Given the description of an element on the screen output the (x, y) to click on. 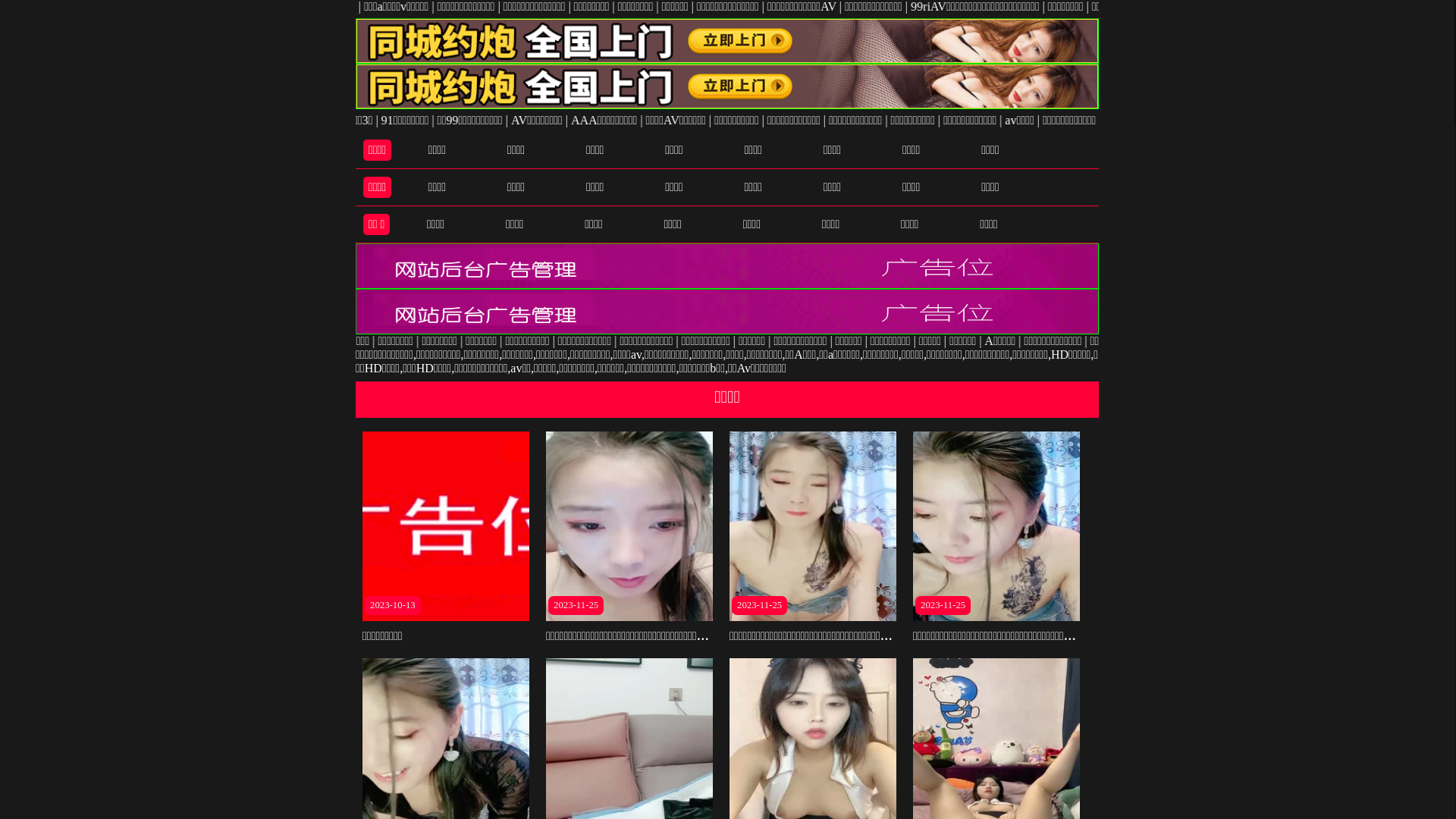
| Element type: text (590, 119)
| Element type: text (1148, 340)
| Element type: text (462, 340)
| Element type: text (1378, 119)
| Element type: text (1093, 340)
| Element type: text (1326, 6)
| Element type: text (1203, 340)
| Element type: text (1041, 6)
| Element type: text (1262, 340)
| Element type: text (1029, 119)
| Element type: text (1139, 119)
| Element type: text (961, 119)
| Element type: text (774, 340)
| Element type: text (1240, 6)
| Element type: text (1328, 119)
| Element type: text (408, 340)
| Element type: text (951, 340)
| Element type: text (1318, 340)
| Element type: text (833, 340)
| Element type: text (878, 119)
| Element type: text (1268, 119)
| Element type: text (911, 119)
| Element type: text (741, 340)
| Element type: text (685, 6)
| Element type: text (768, 119)
| Element type: text (1020, 340)
| Element type: text (1088, 119)
| Element type: text (1013, 6)
| Element type: text (1407, 6)
| Element type: text (902, 340)
| Element type: text (1146, 6)
| Element type: text (625, 340)
| Element type: text (693, 119)
| Element type: text (936, 6)
| Element type: text (370, 340)
| Element type: text (815, 6)
| Element type: text (1430, 340)
| Element type: text (584, 340)
| Element type: text (557, 119)
| Element type: text (841, 119)
| Element type: text (1218, 119)
| Element type: text (550, 340)
| Element type: text (1434, 119)
| Element type: text (1166, 119)
| Element type: text (1388, 340)
| Element type: text (514, 340)
| Element type: text (697, 340)
| Element type: text (631, 119)
